Given the description of an element on the screen output the (x, y) to click on. 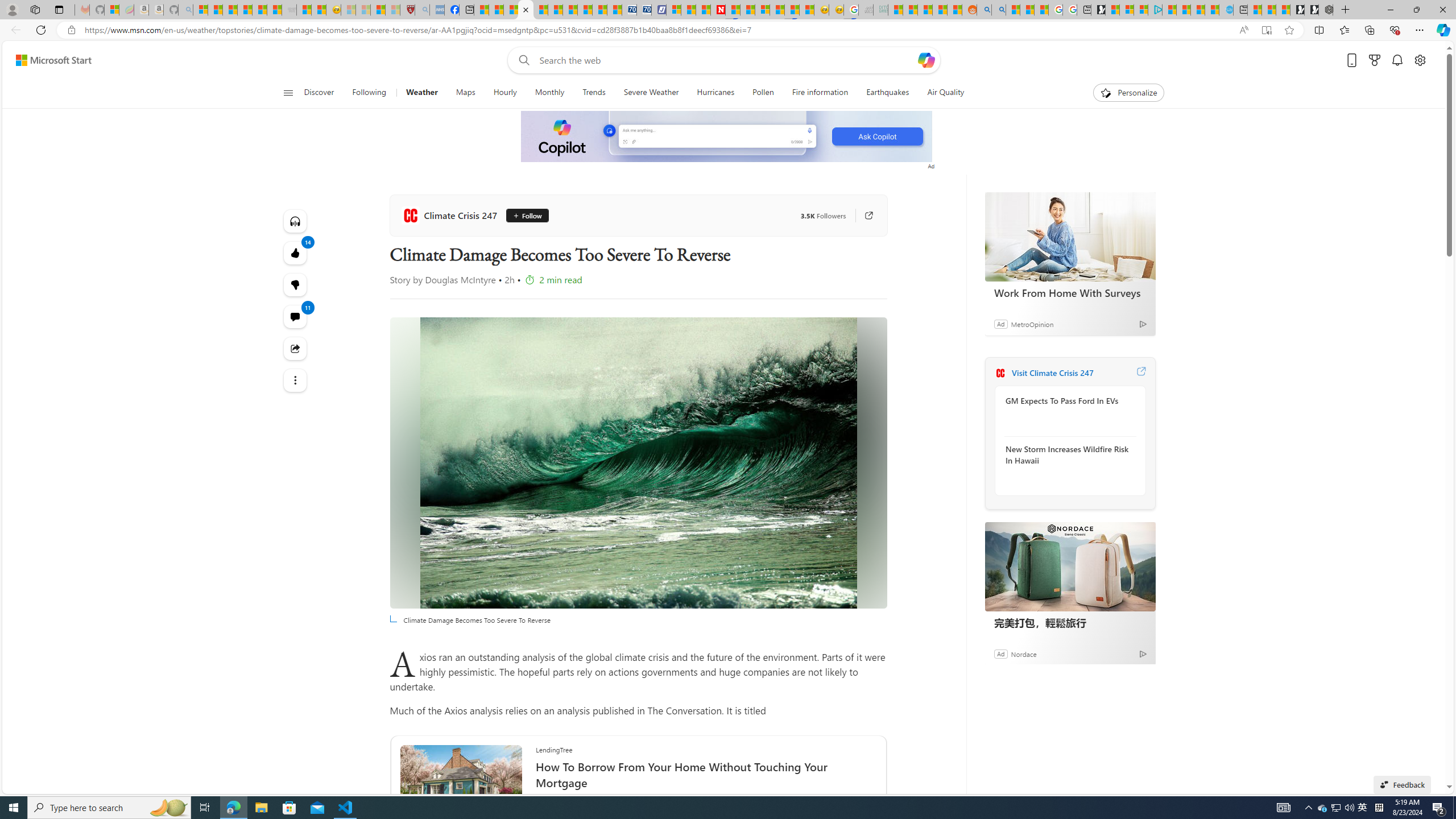
Climate Damage Becomes Too Severe To Reverse (638, 462)
Follow (526, 215)
Go to publisher's site (863, 215)
